Given the description of an element on the screen output the (x, y) to click on. 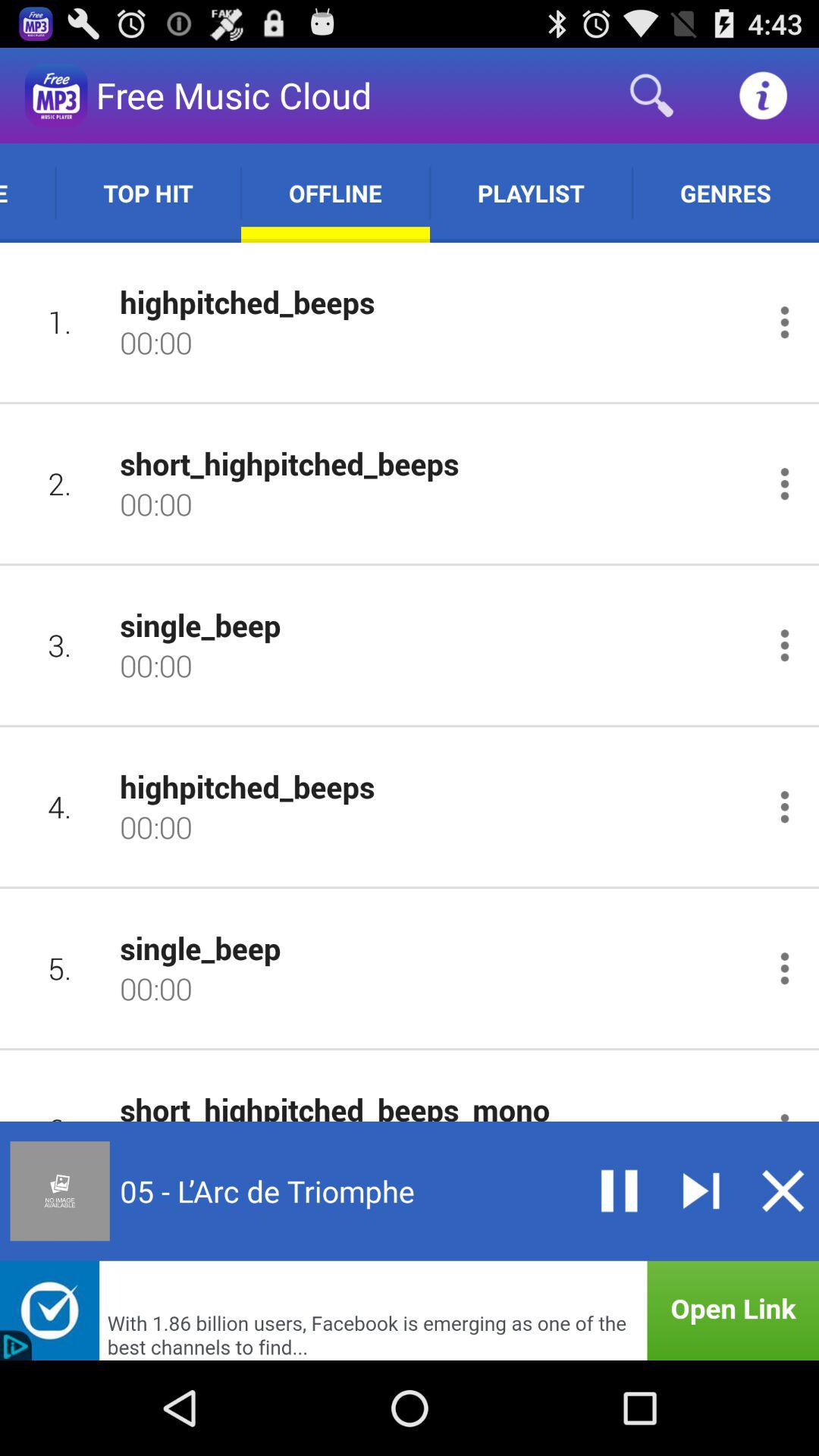
song options (784, 968)
